Given the description of an element on the screen output the (x, y) to click on. 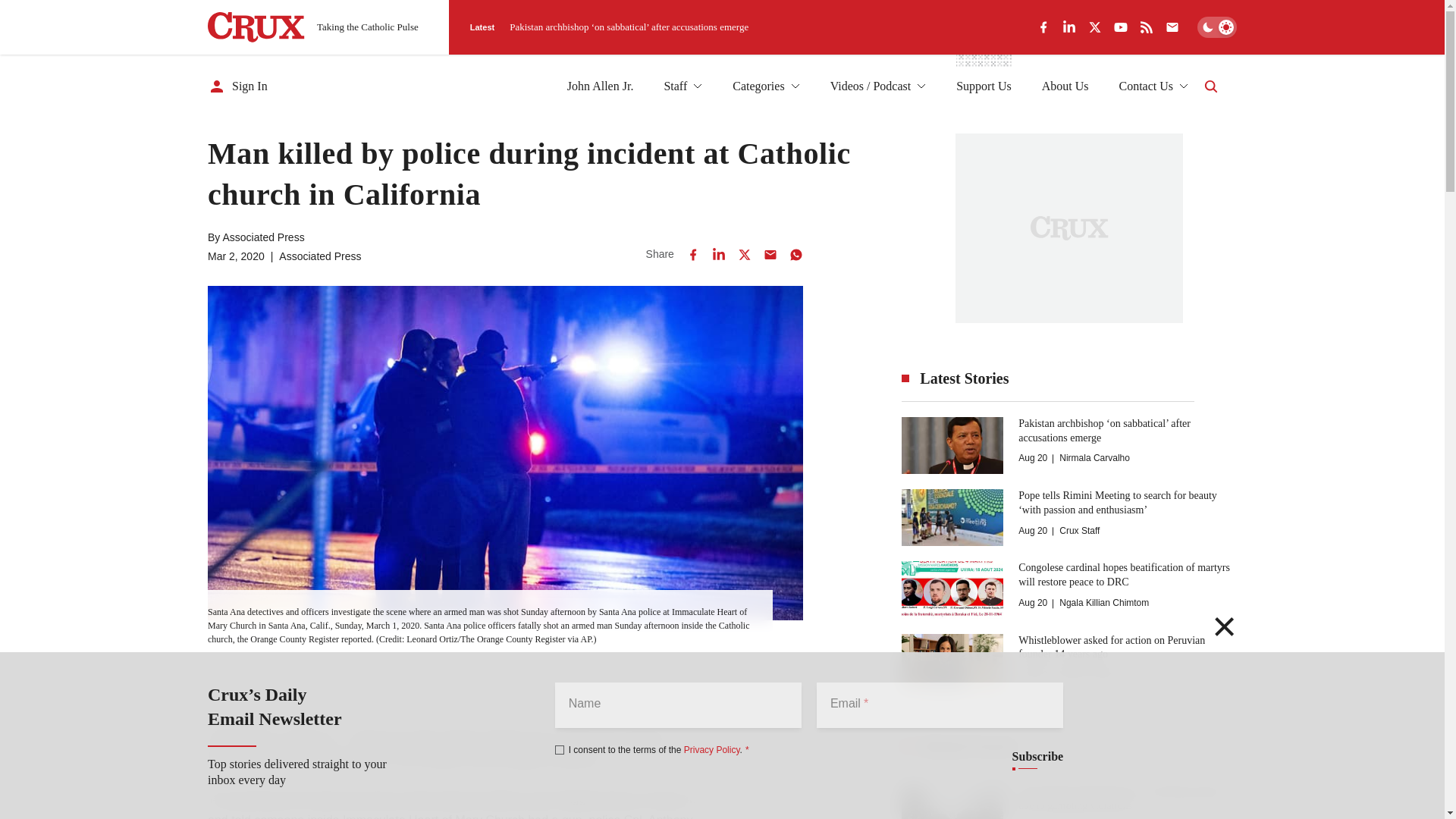
true (559, 749)
Subscribe (1037, 756)
Privacy Policy (711, 749)
Sign In (237, 85)
Staff (682, 85)
Categories (765, 85)
John Allen Jr. (600, 85)
Support Us (983, 85)
